Given the description of an element on the screen output the (x, y) to click on. 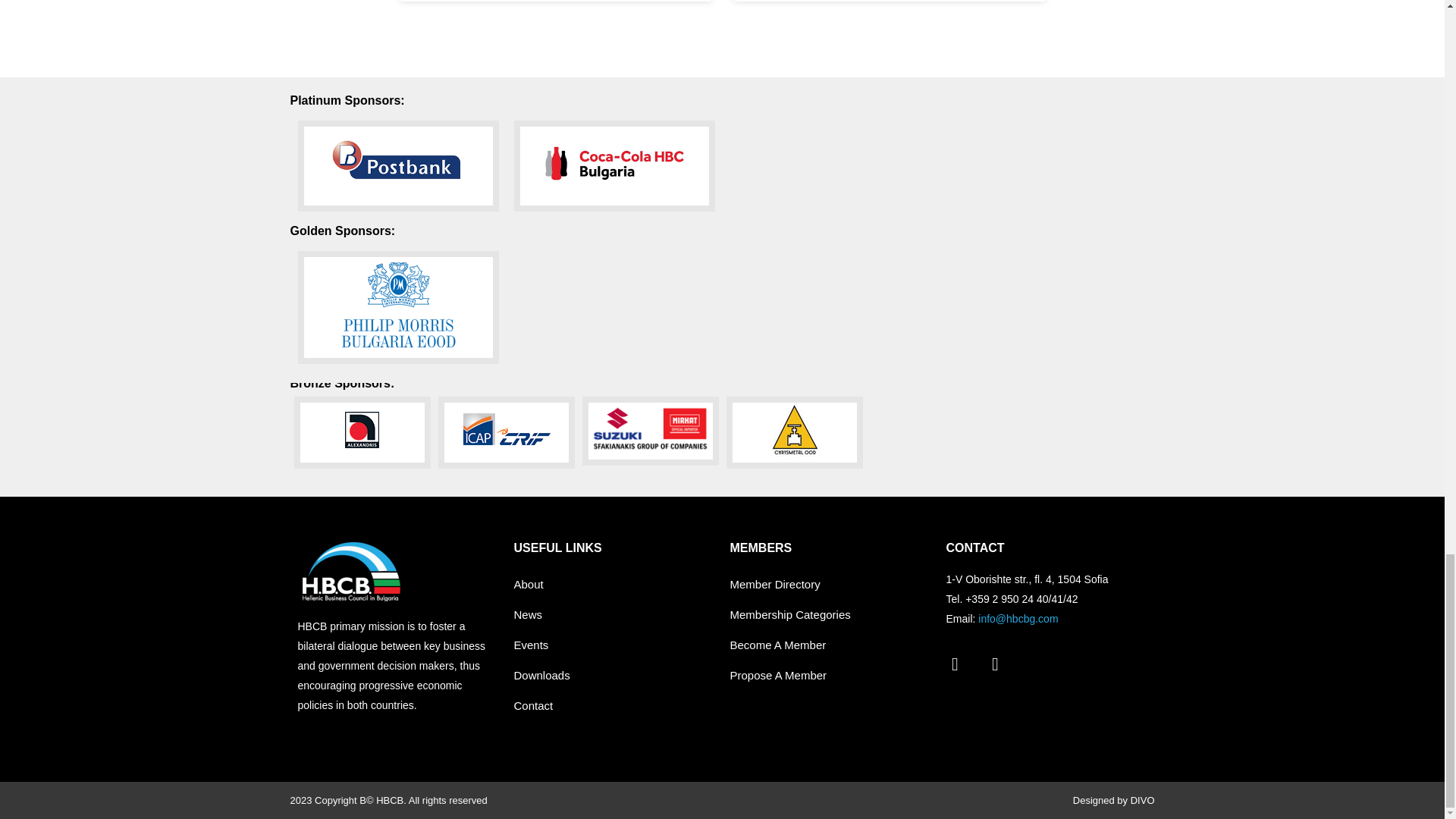
CRIF (506, 432)
hbcb-logo-w (350, 571)
CHRYSMETAL (794, 432)
Philip Morris Bulgaria (397, 306)
Coca Cola HBC (613, 165)
Postbank (397, 165)
Alexandris (362, 432)
SUZUKI (650, 431)
